Given the description of an element on the screen output the (x, y) to click on. 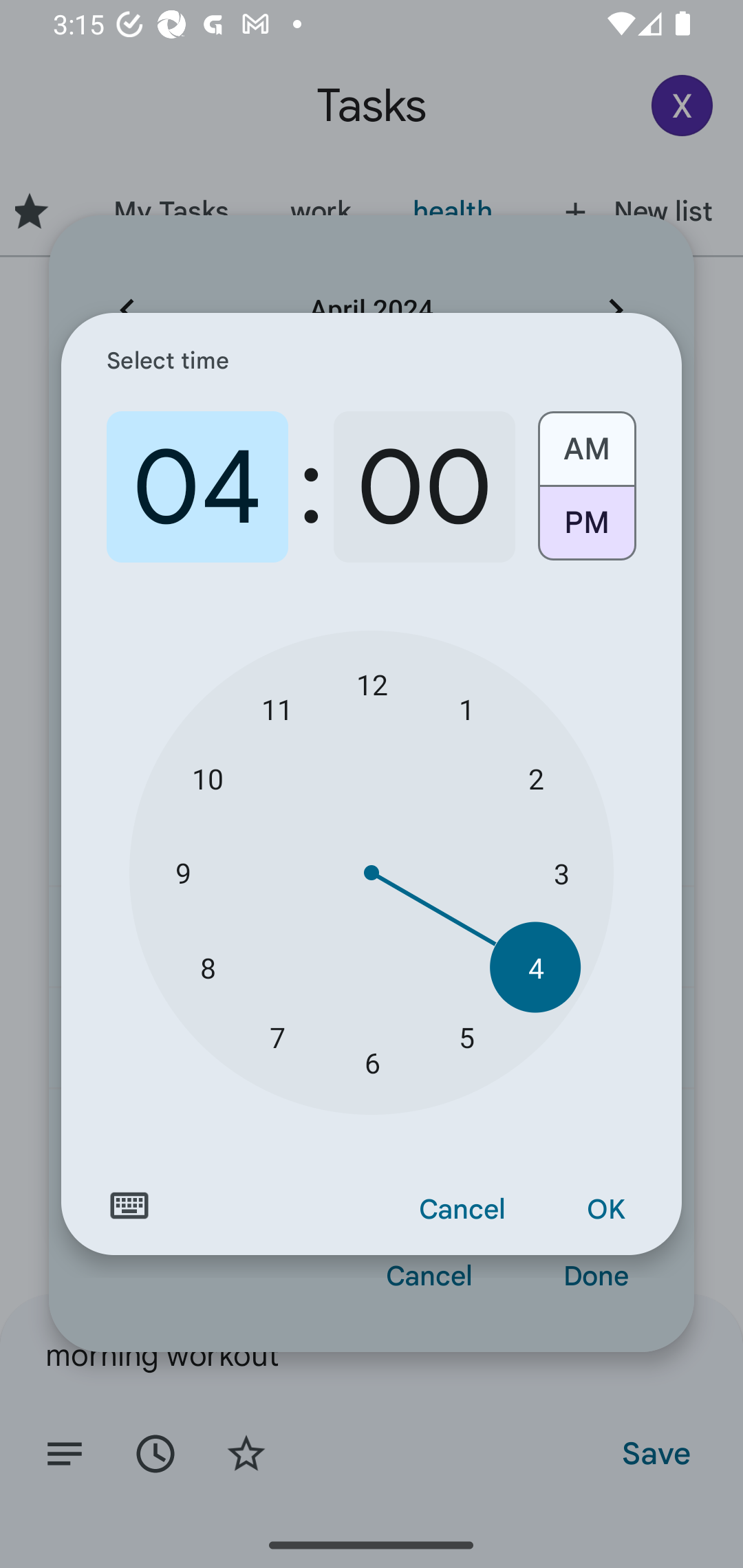
AM (586, 441)
04 4 o'clock (197, 486)
00 0 minutes (424, 486)
PM (586, 529)
12 12 o'clock (371, 683)
11 11 o'clock (276, 708)
1 1 o'clock (466, 708)
10 10 o'clock (207, 778)
2 2 o'clock (535, 778)
9 9 o'clock (182, 872)
3 3 o'clock (561, 872)
8 8 o'clock (207, 966)
4 4 o'clock (535, 966)
7 7 o'clock (276, 1035)
5 5 o'clock (466, 1035)
6 6 o'clock (371, 1062)
Switch to text input mode for the time input. (128, 1205)
Cancel (462, 1209)
OK (605, 1209)
